Given the description of an element on the screen output the (x, y) to click on. 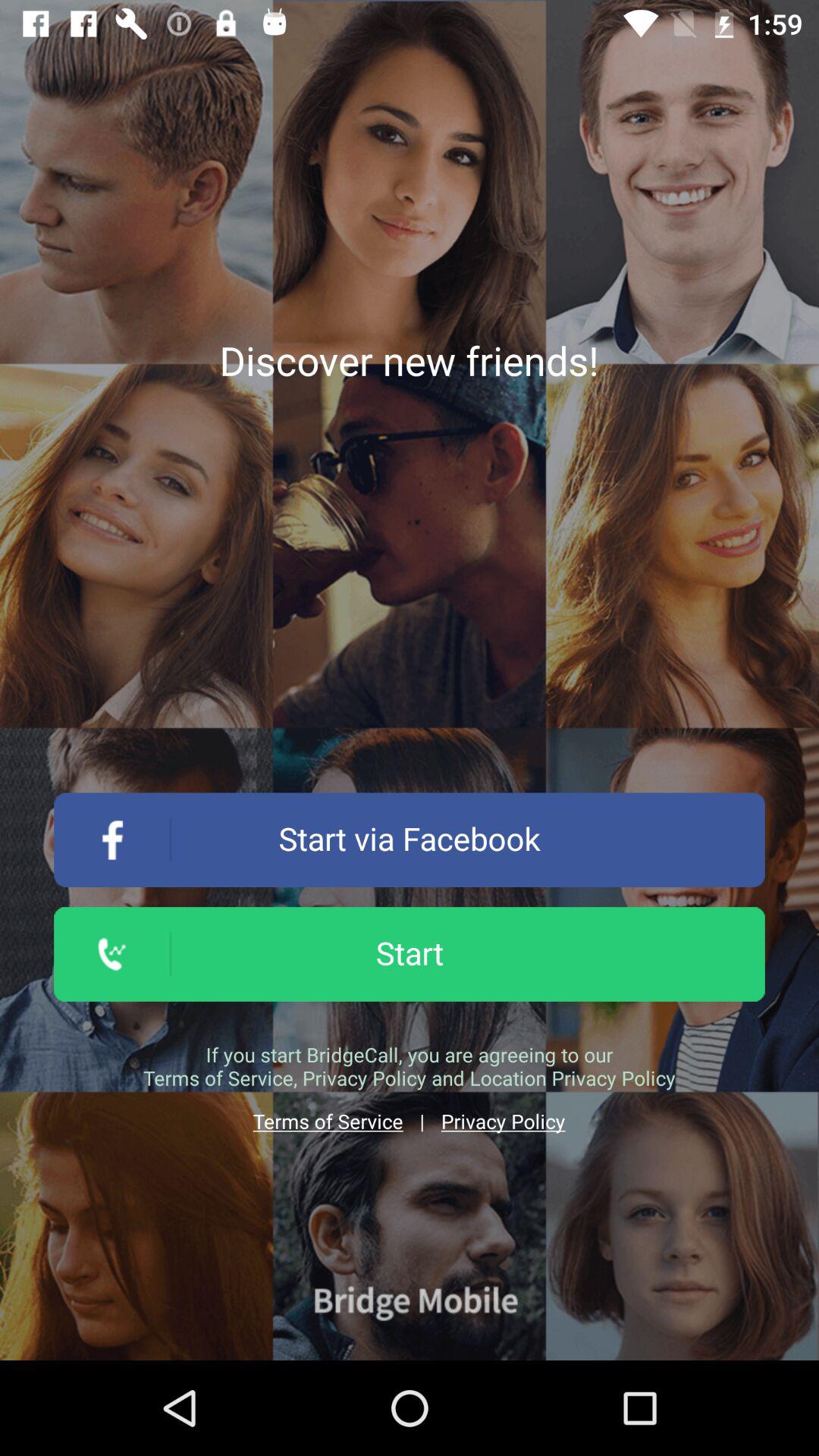
turn on the app at the top (408, 359)
